Given the description of an element on the screen output the (x, y) to click on. 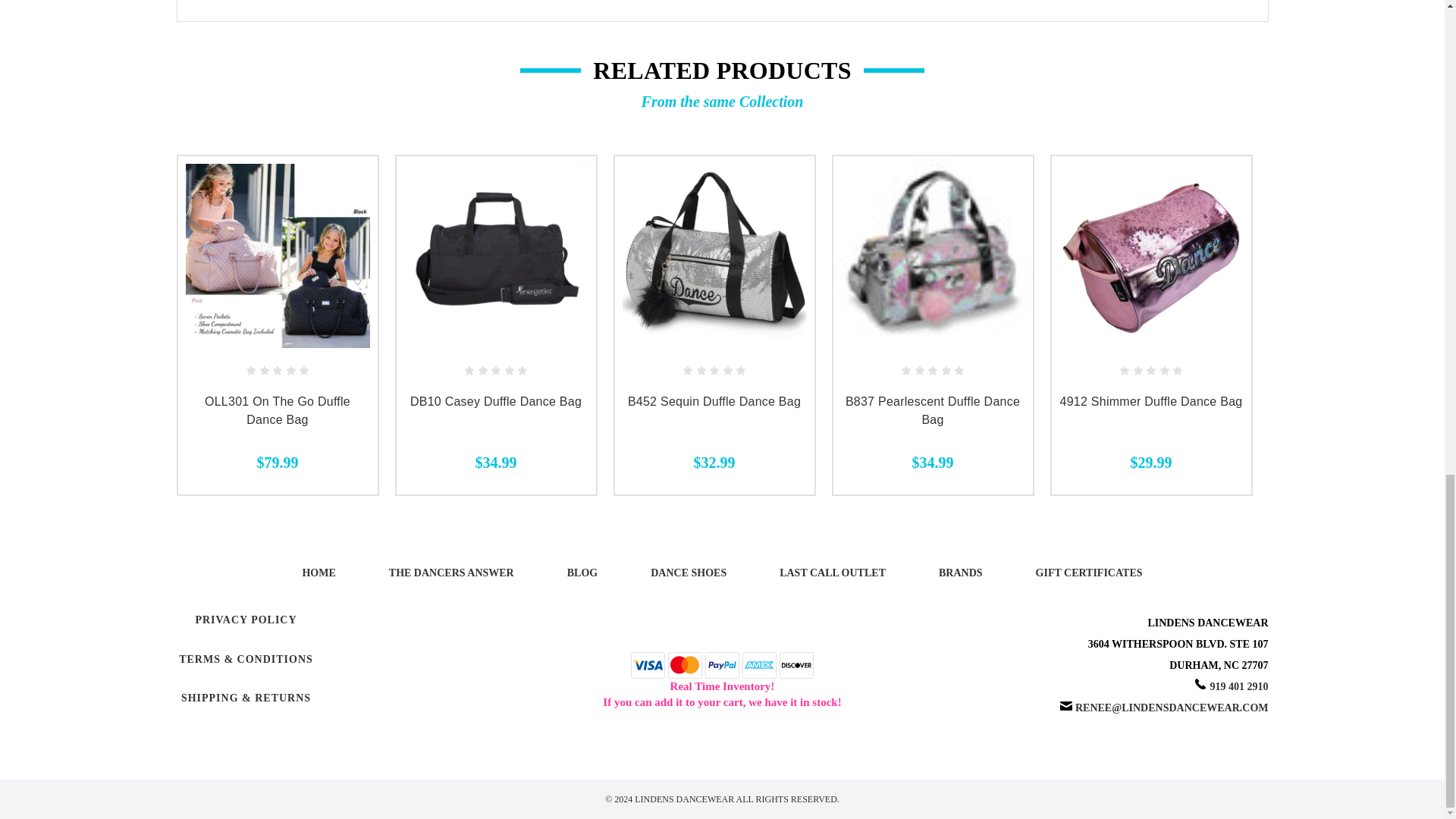
Oh La La Dancewear OLL301 On The Go Duffle Dance Bag (276, 255)
